Given the description of an element on the screen output the (x, y) to click on. 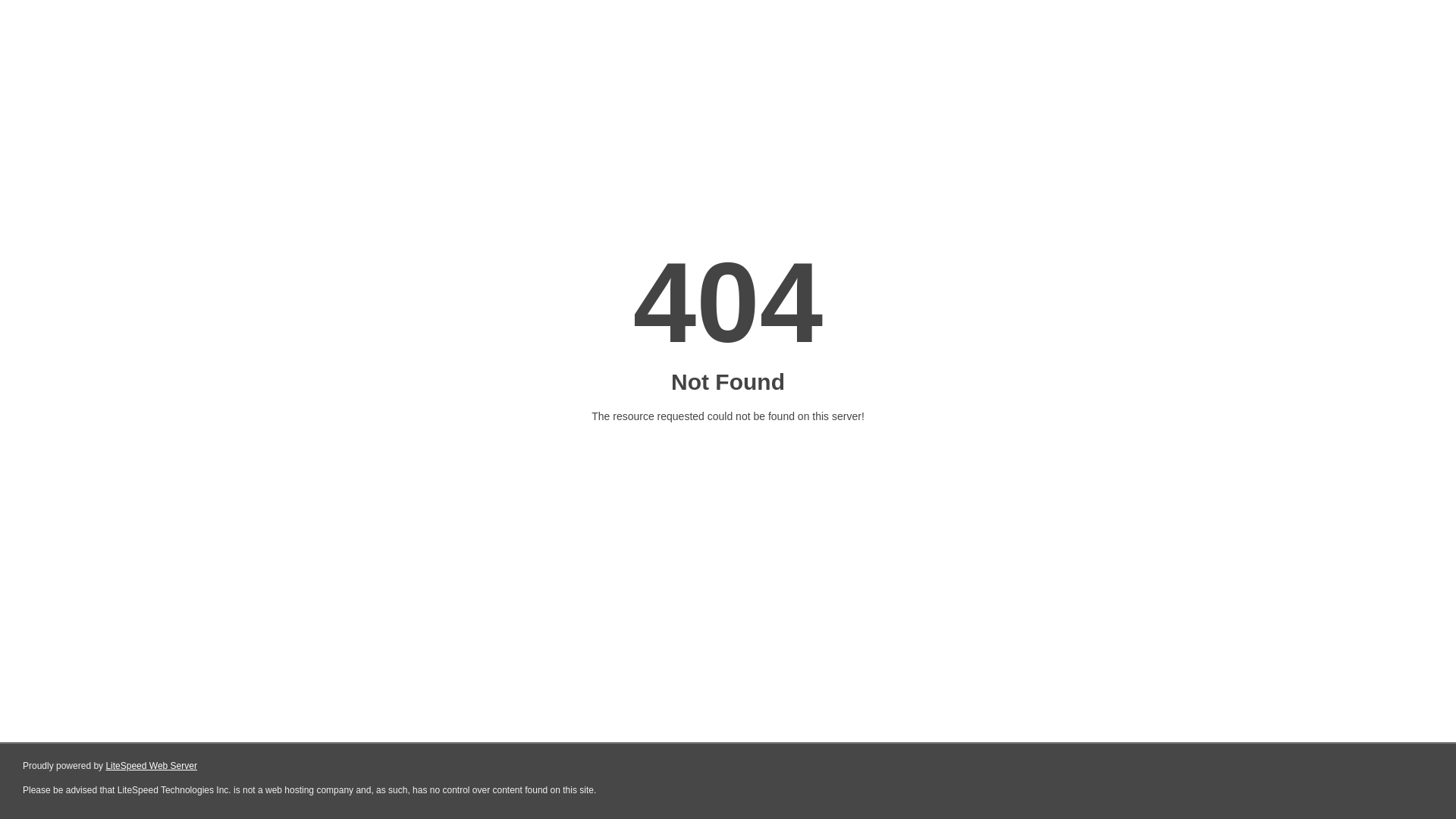
LiteSpeed Web Server Element type: text (151, 765)
